Given the description of an element on the screen output the (x, y) to click on. 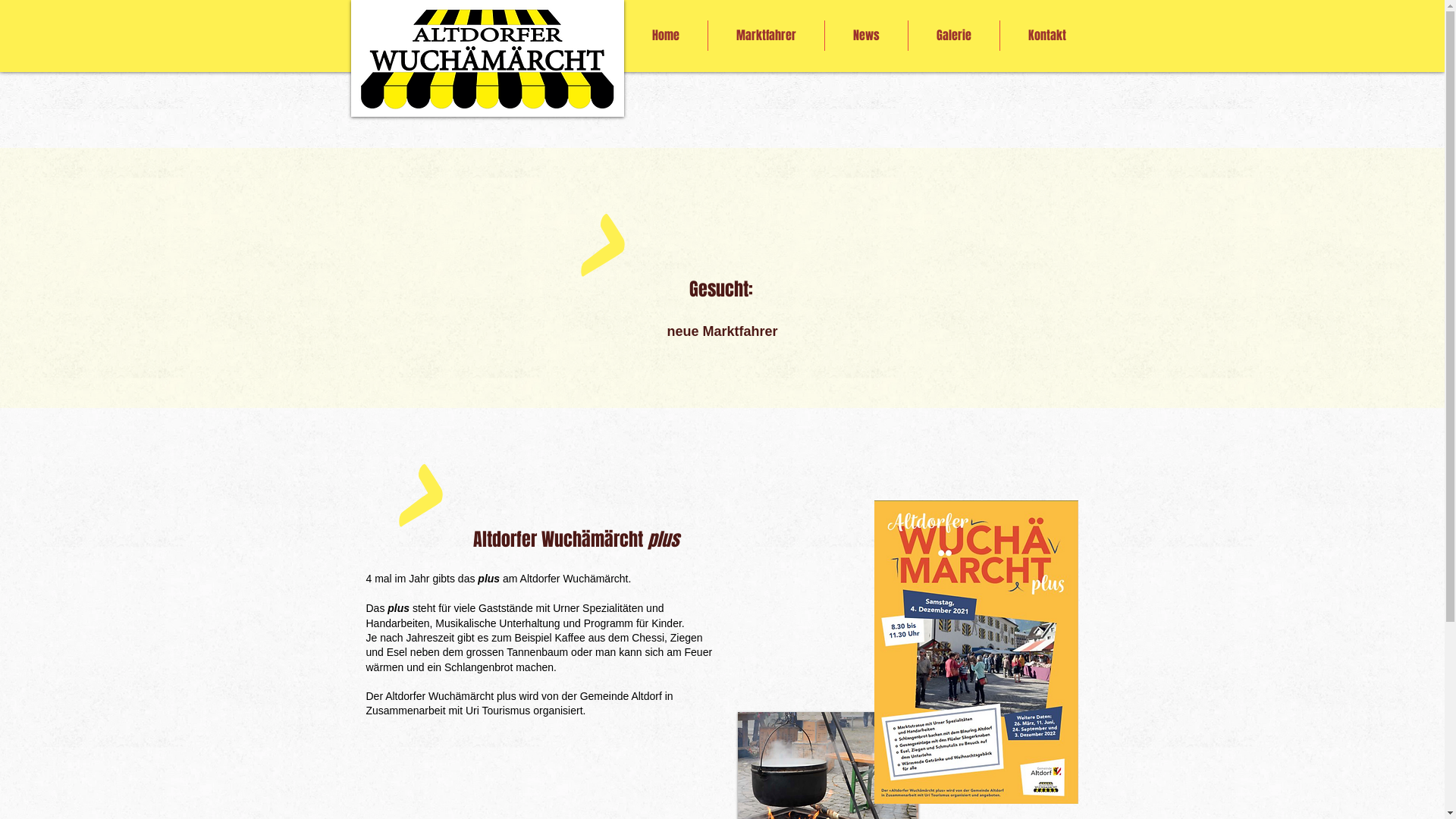
Galerie Element type: text (953, 35)
News Element type: text (866, 35)
Marktfahrer Element type: text (766, 35)
Kontakt Element type: text (1046, 35)
Home Element type: text (664, 35)
